Given the description of an element on the screen output the (x, y) to click on. 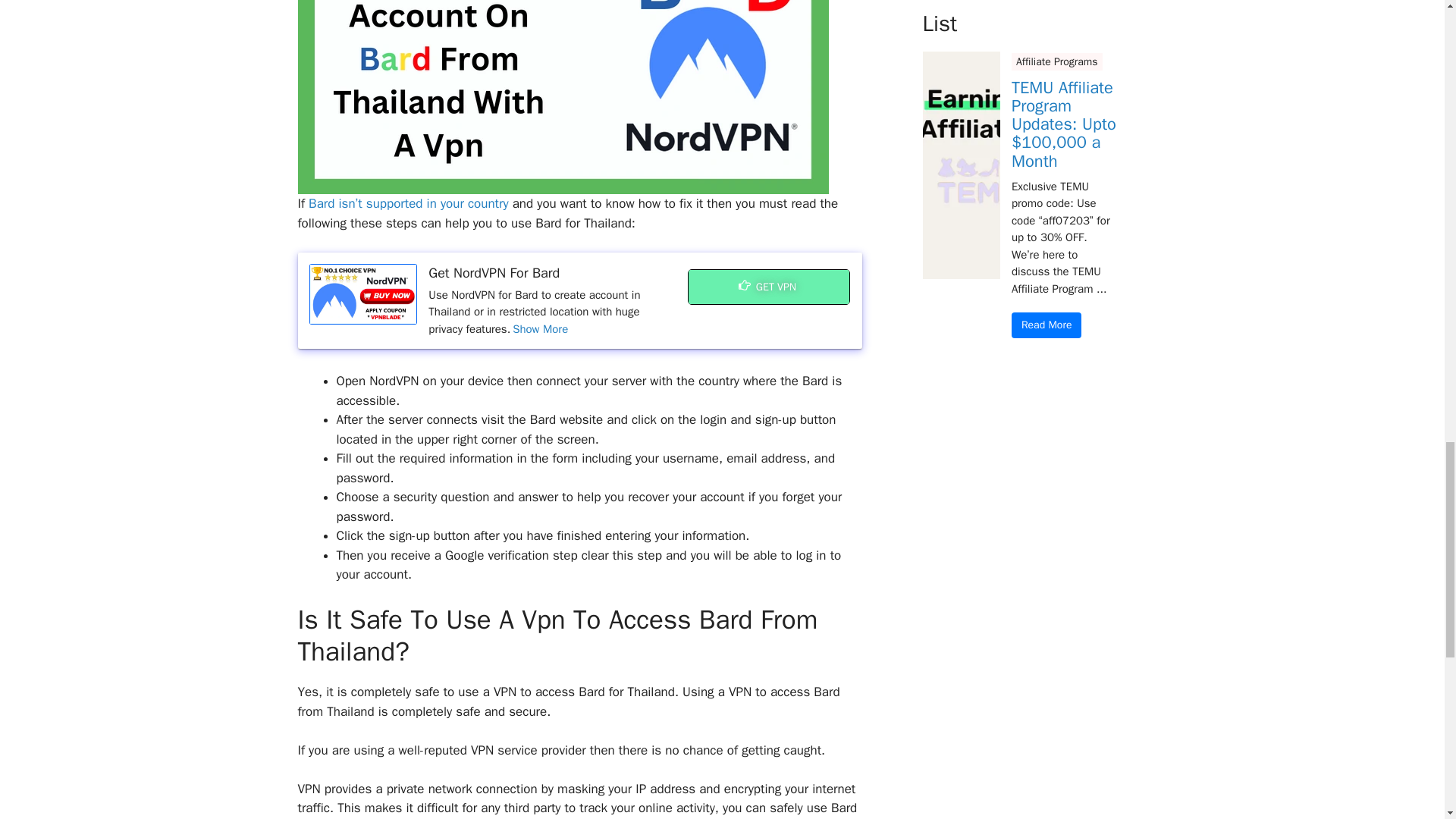
Get NordVPN For Bard (362, 293)
Get VPN (768, 286)
